Given the description of an element on the screen output the (x, y) to click on. 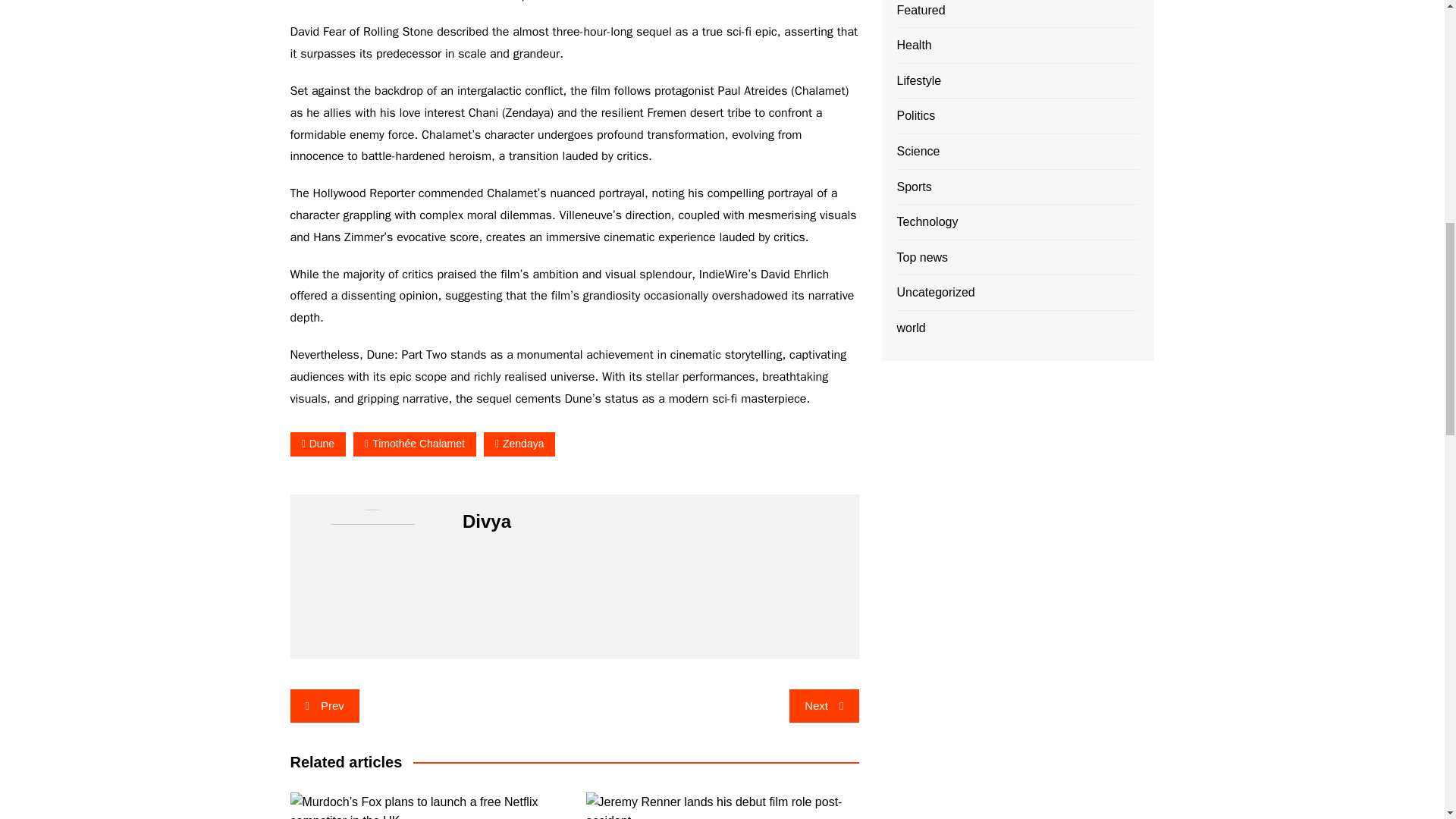
Zendaya (519, 443)
Next (824, 705)
Dune (317, 443)
Prev (323, 705)
